Given the description of an element on the screen output the (x, y) to click on. 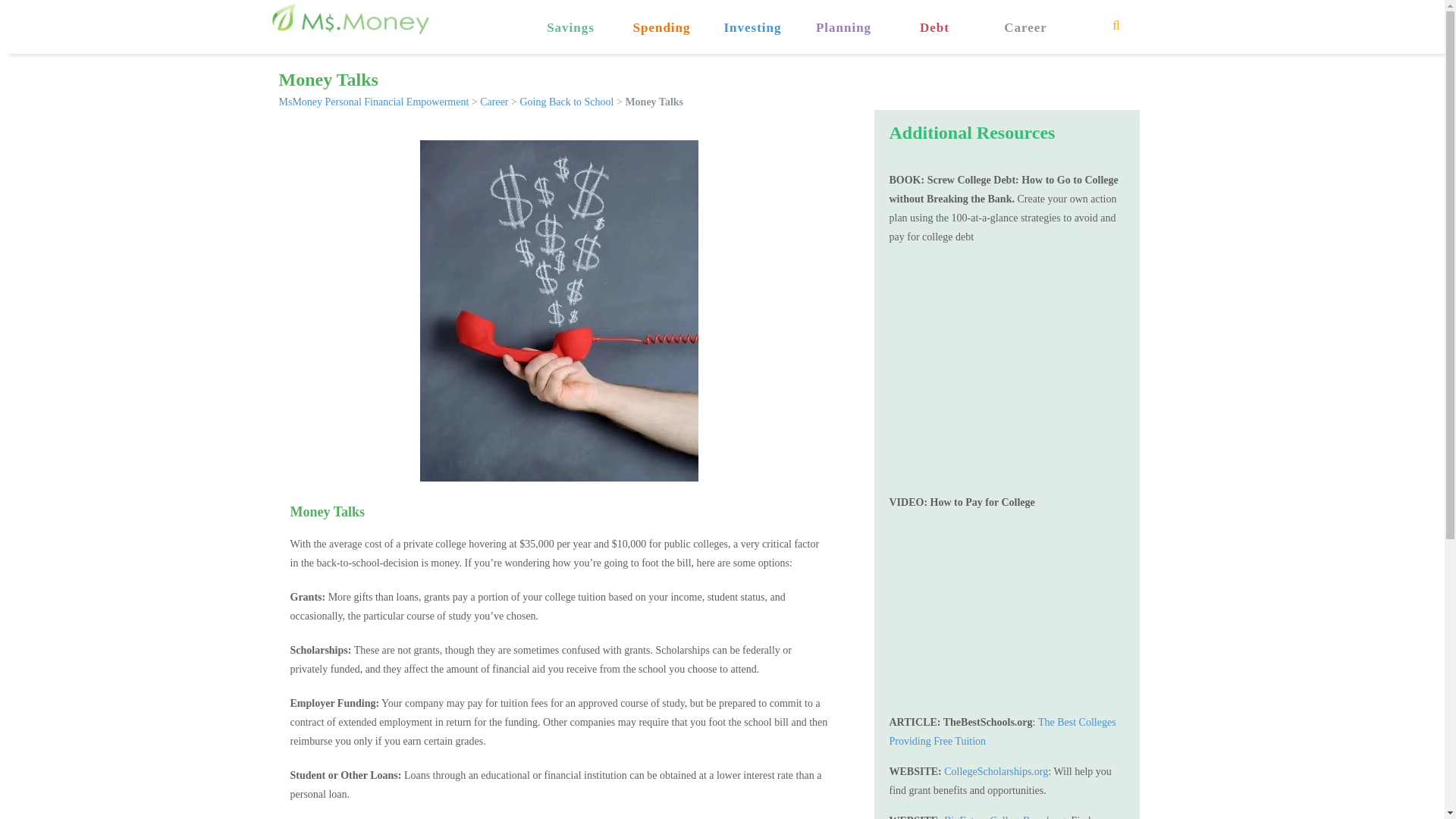
Savings (570, 17)
Debt (934, 17)
Spending (660, 17)
Career (494, 101)
Go to Going Back to School. (565, 101)
Go to MsMoney Personal Financial Empowerment. (373, 101)
Planning (842, 17)
Career (1024, 17)
Go to Career. (494, 101)
MS Money (348, 19)
Going Back to School (565, 101)
Investing (752, 17)
MsMoney Personal Financial Empowerment (373, 101)
